Given the description of an element on the screen output the (x, y) to click on. 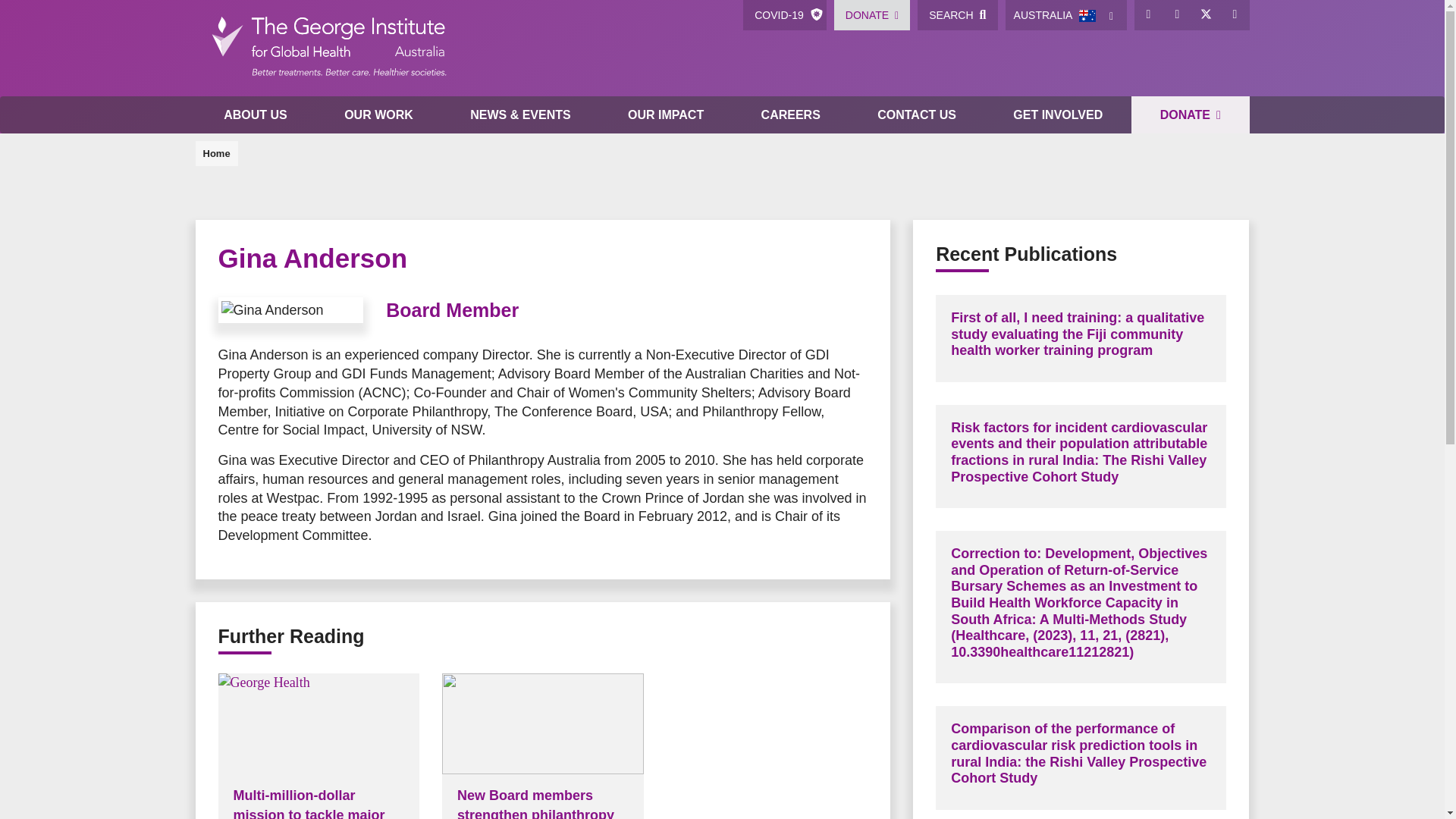
YouTube (1235, 15)
Twitter (1206, 15)
OUR WORK (378, 114)
ABOUT US (255, 114)
DONATE (872, 15)
Select country (1111, 15)
COVID-19 (784, 15)
Home (328, 48)
SEARCH (957, 15)
Skip to main content (721, 1)
